Given the description of an element on the screen output the (x, y) to click on. 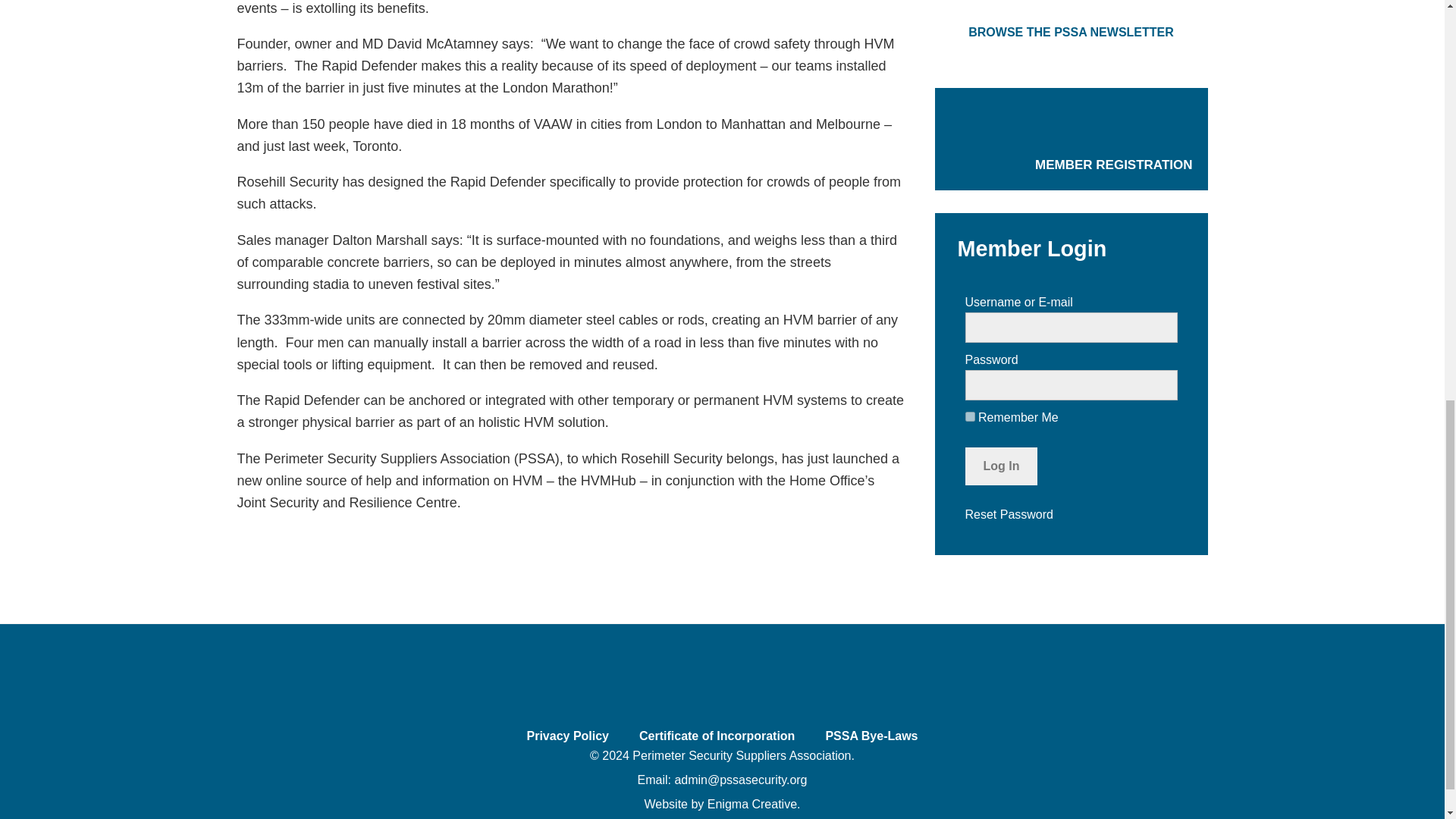
forever (968, 416)
Log In (999, 466)
